Given the description of an element on the screen output the (x, y) to click on. 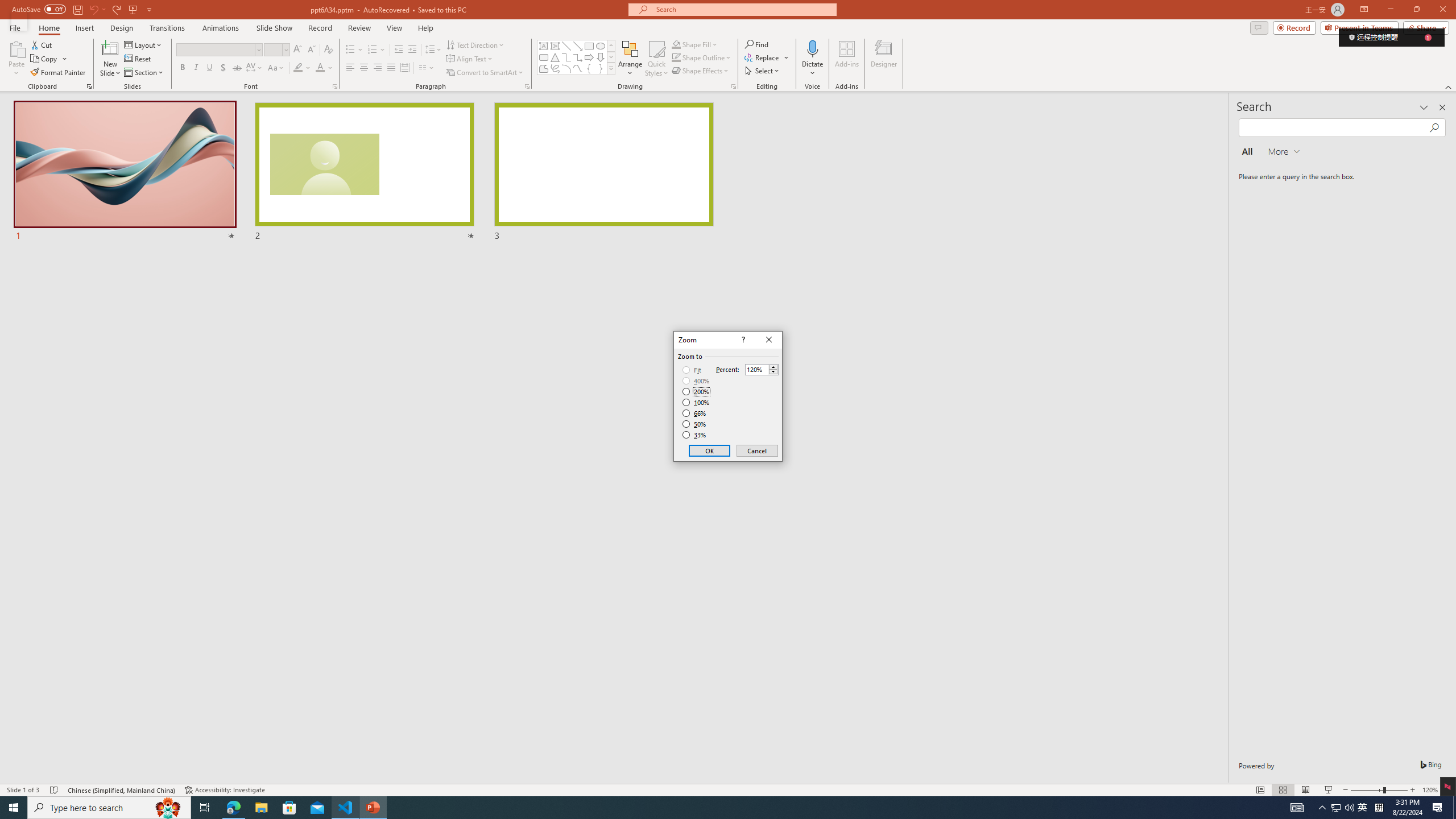
Justify (390, 67)
Zoom 120% (1430, 790)
Less (772, 372)
Format Object... (733, 85)
AutomationID: ShapesInsertGallery (576, 57)
100% (696, 402)
Freeform: Scribble (554, 68)
